Given the description of an element on the screen output the (x, y) to click on. 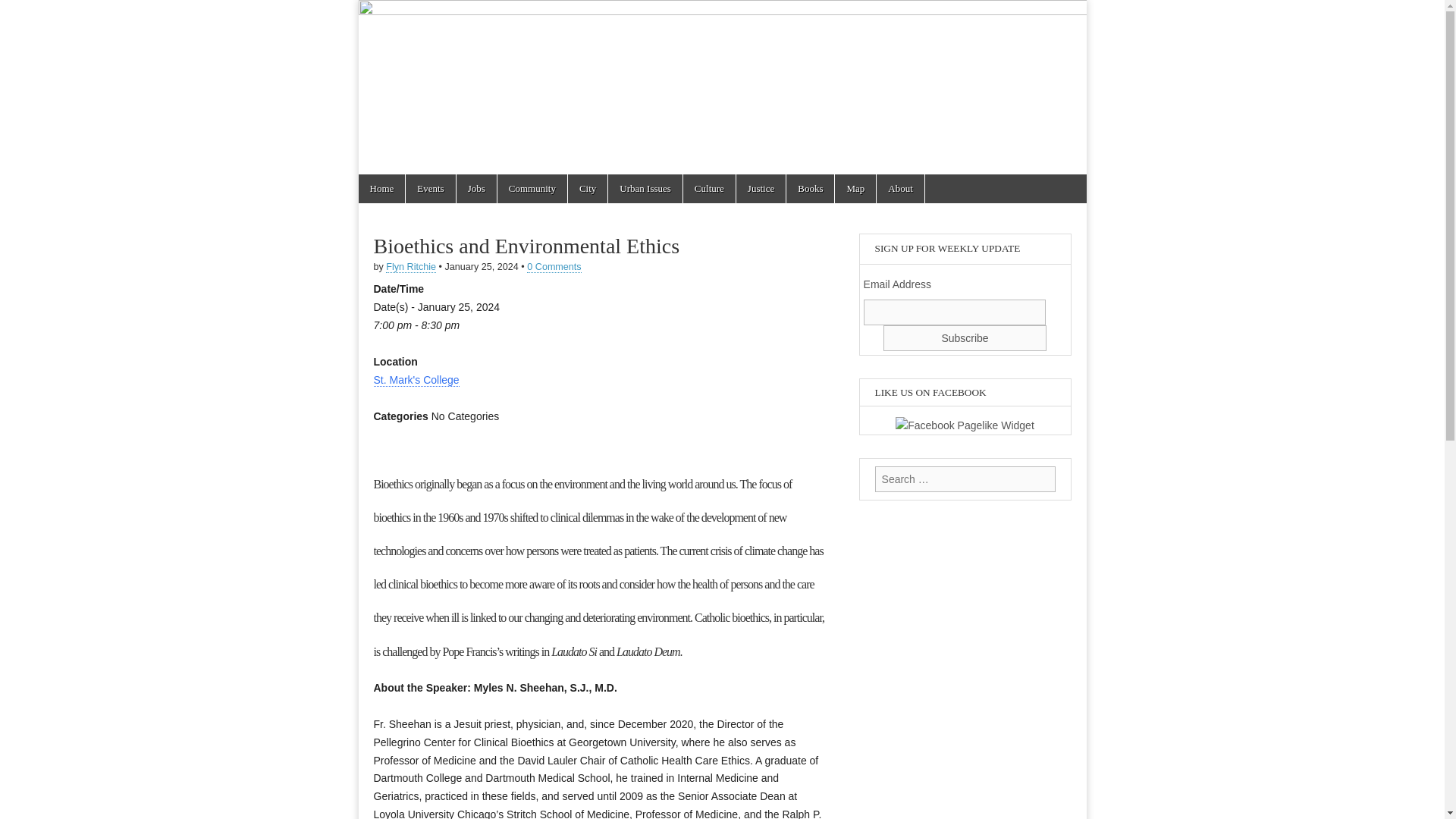
Home (381, 188)
Culture (708, 188)
Subscribe (964, 338)
Flyn Ritchie (410, 266)
0 Comments (553, 266)
Justice (761, 188)
Church for Vancouver (450, 76)
Events (430, 188)
Jobs (476, 188)
